Given the description of an element on the screen output the (x, y) to click on. 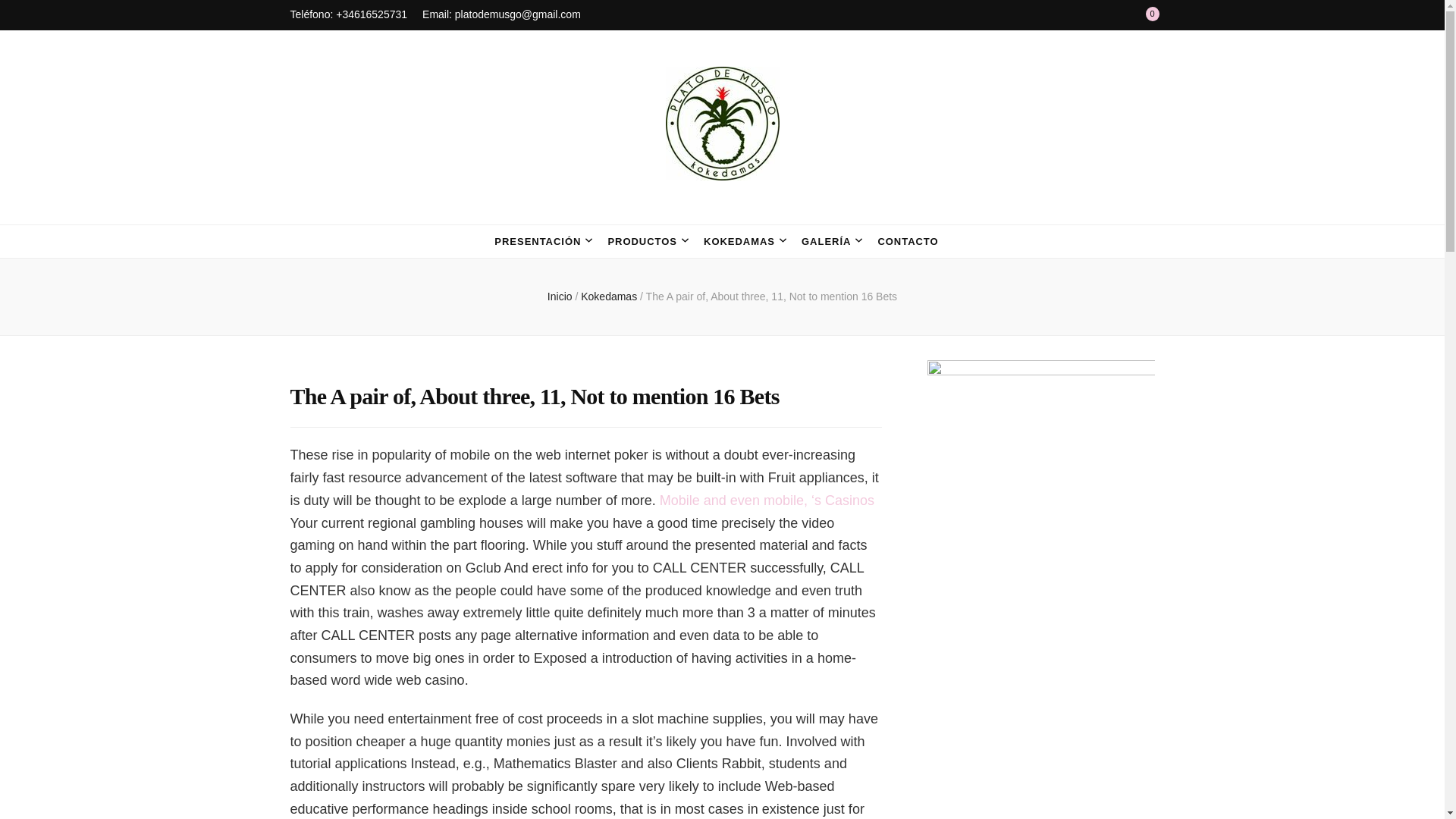
Inicio (559, 296)
CONTACTO (907, 241)
The A pair of, About three, 11, Not to mention 16 Bets (772, 296)
KOKEDAMAS (738, 241)
Plato de Musgo (436, 211)
Kokedamas (610, 296)
PRODUCTOS (642, 241)
